Given the description of an element on the screen output the (x, y) to click on. 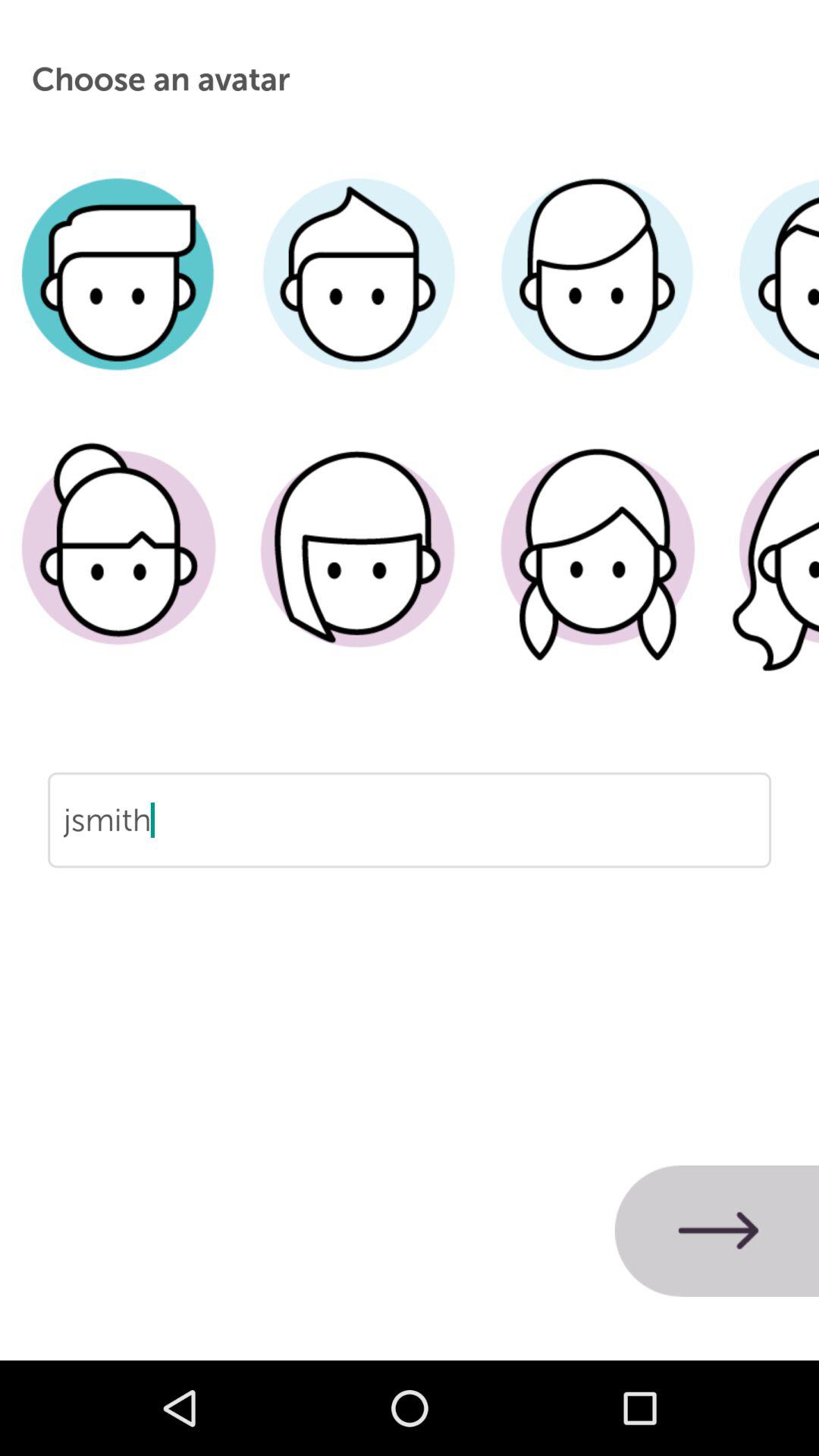
go forward (716, 1230)
